Given the description of an element on the screen output the (x, y) to click on. 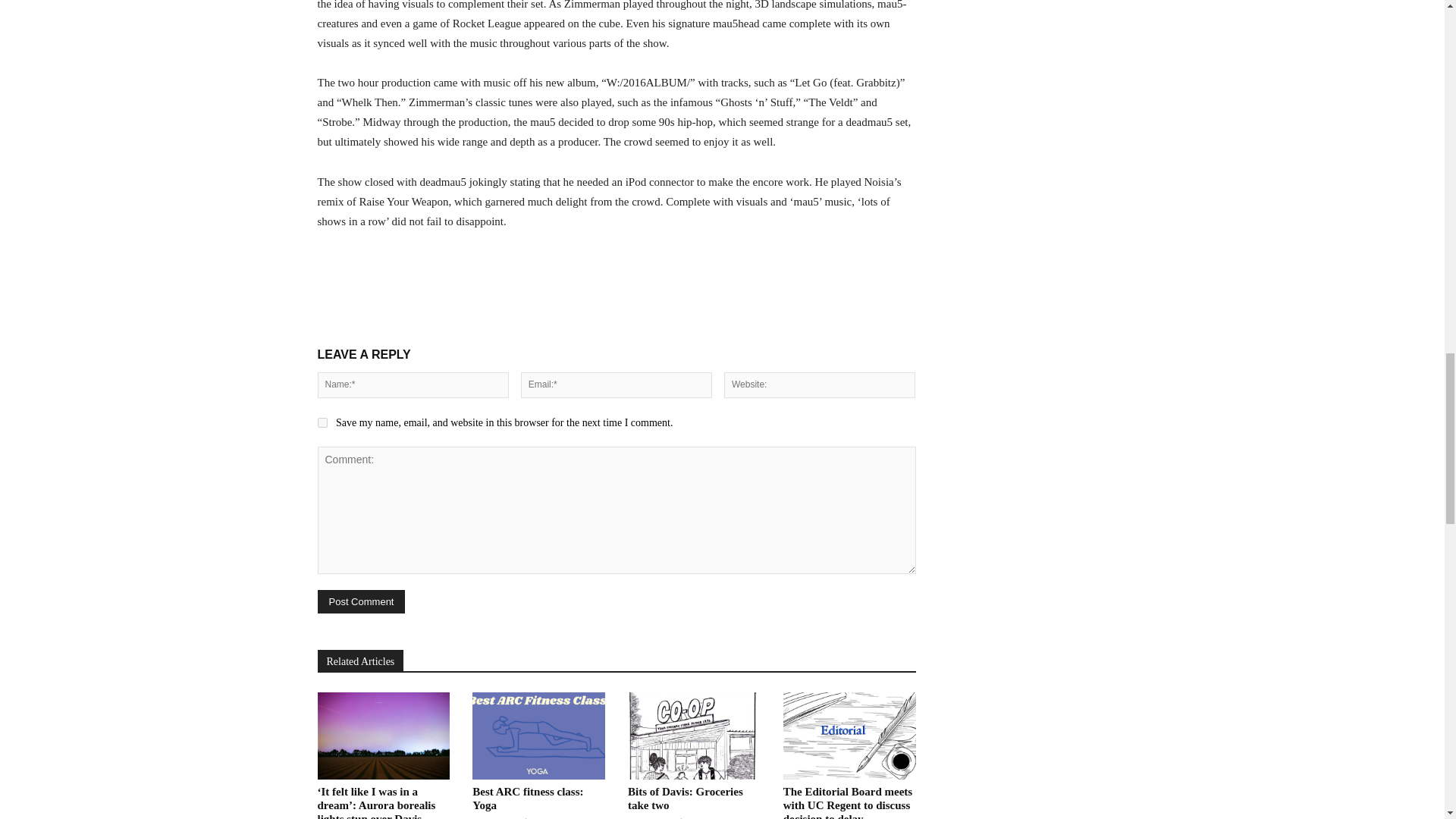
Post Comment (360, 601)
yes (321, 422)
